Given the description of an element on the screen output the (x, y) to click on. 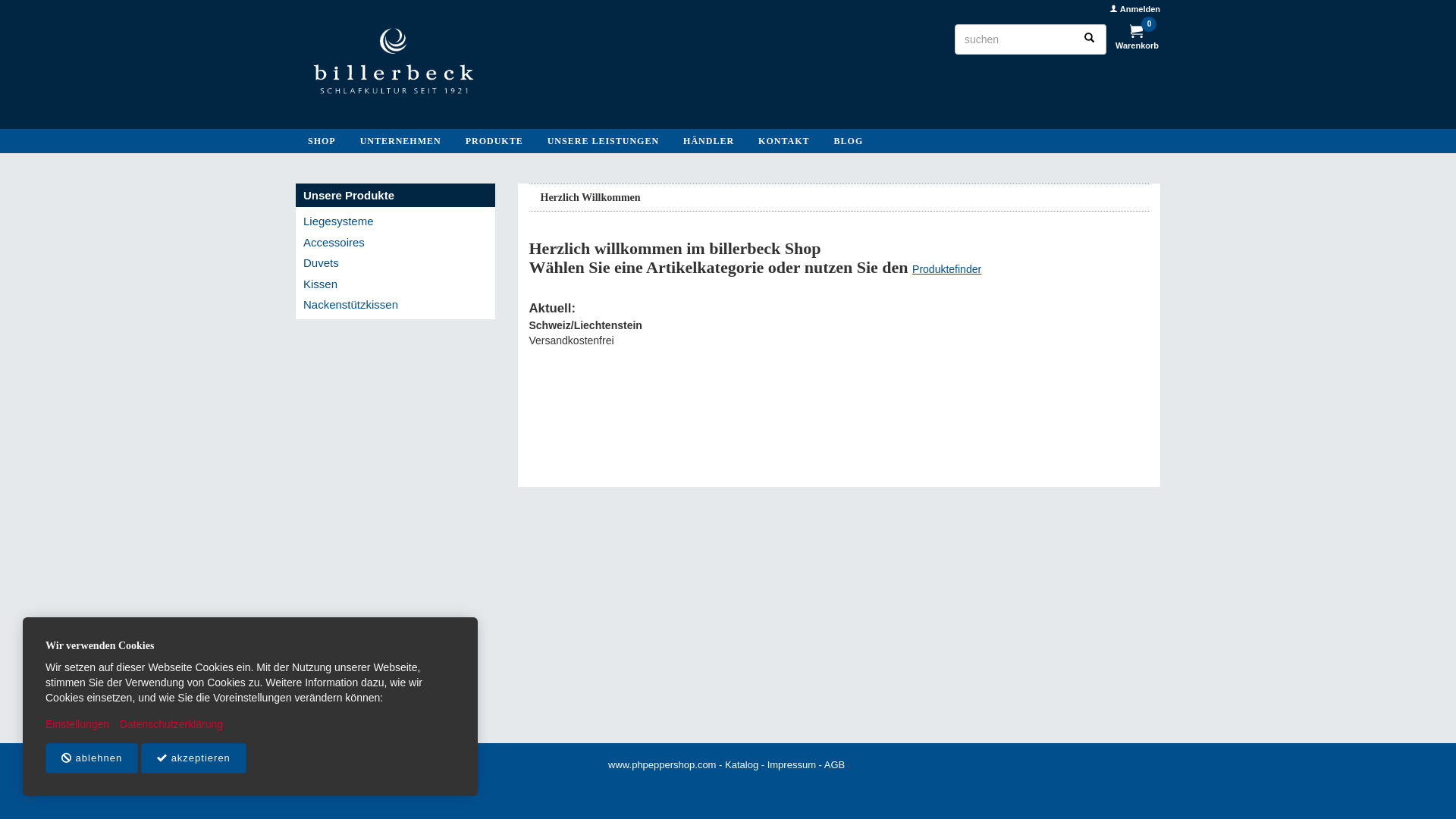
UNSERE LEISTUNGEN Element type: text (603, 140)
UNTERNEHMEN Element type: text (400, 140)
Produktefinder Element type: text (946, 269)
Einstellungen Element type: text (77, 723)
Katalog Element type: text (741, 764)
KONTAKT Element type: text (783, 140)
AGB Element type: text (834, 764)
Kissen Element type: text (395, 283)
www.phpeppershop.com Element type: text (661, 764)
Warenkorb Element type: text (1136, 46)
Duvets Element type: text (395, 262)
0 Element type: text (1136, 32)
Accessoires Element type: text (395, 242)
Liegesysteme Element type: text (395, 221)
Impressum Element type: text (791, 764)
ablehnen Element type: text (91, 758)
Anmelden Element type: text (1134, 8)
PRODUKTE Element type: text (494, 140)
akzeptieren Element type: text (193, 758)
BLOG Element type: text (848, 140)
SHOP Element type: text (321, 140)
